Given the description of an element on the screen output the (x, y) to click on. 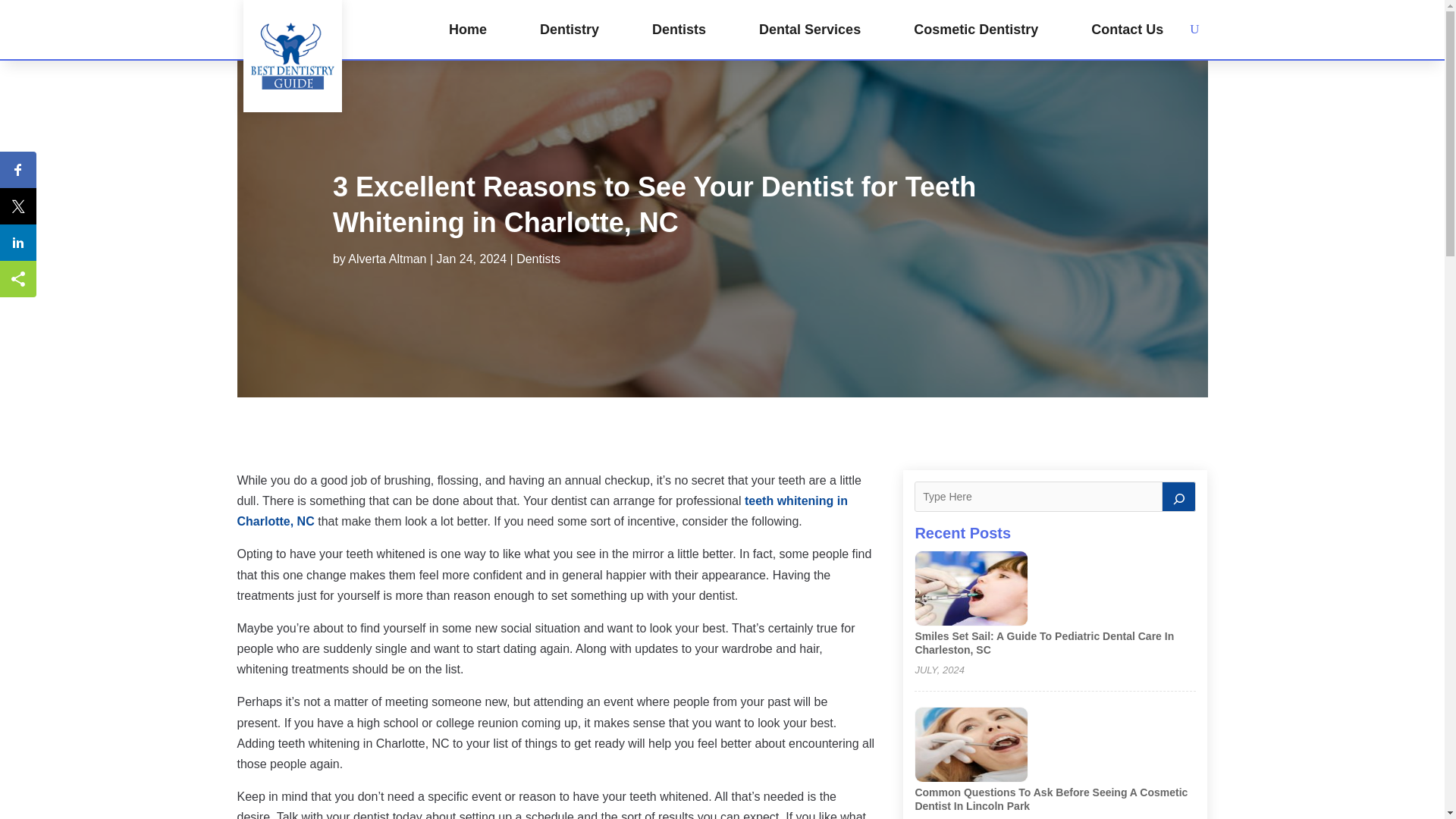
Cosmetic Dentistry (976, 29)
Alverta Altman (386, 258)
Dentists (679, 29)
Contact Us (1126, 29)
Dentists (538, 258)
teeth whitening in Charlotte, NC (541, 510)
Dental Services (809, 29)
Dentistry (569, 29)
Posts by Alverta Altman (386, 258)
